Given the description of an element on the screen output the (x, y) to click on. 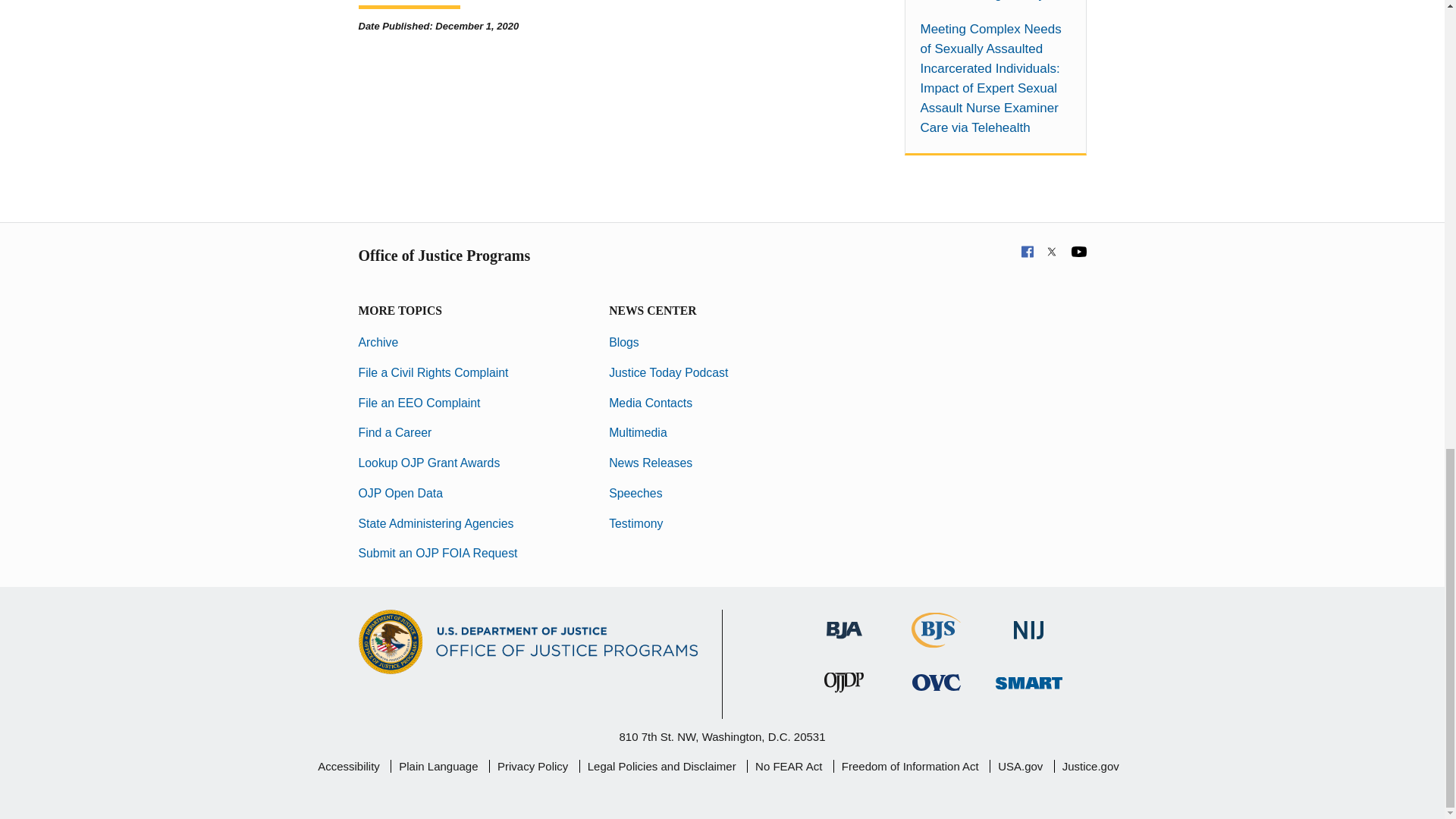
Archive (377, 341)
File a Civil Rights Complaint (433, 372)
